Given the description of an element on the screen output the (x, y) to click on. 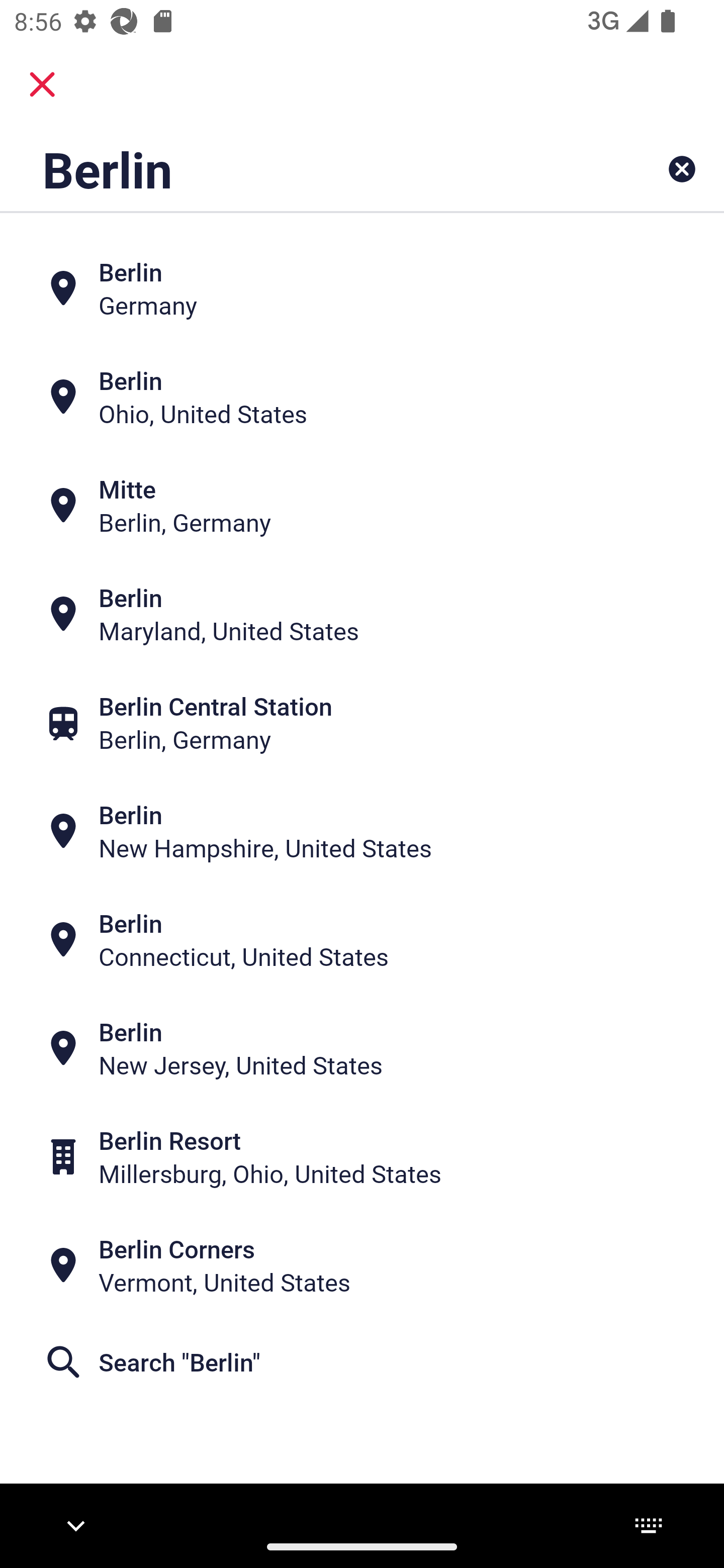
close. (42, 84)
Clear (681, 169)
Berlin (298, 169)
Berlin Germany (362, 288)
Berlin Ohio, United States (362, 397)
Mitte Berlin, Germany (362, 505)
Berlin Maryland, United States (362, 613)
Berlin Central Station Berlin, Germany (362, 722)
Berlin New Hampshire, United States (362, 831)
Berlin Connecticut, United States (362, 939)
Berlin New Jersey, United States (362, 1048)
Berlin Resort Millersburg, Ohio, United States (362, 1156)
Berlin Corners Vermont, United States (362, 1265)
Search "Berlin" (361, 1362)
